Given the description of an element on the screen output the (x, y) to click on. 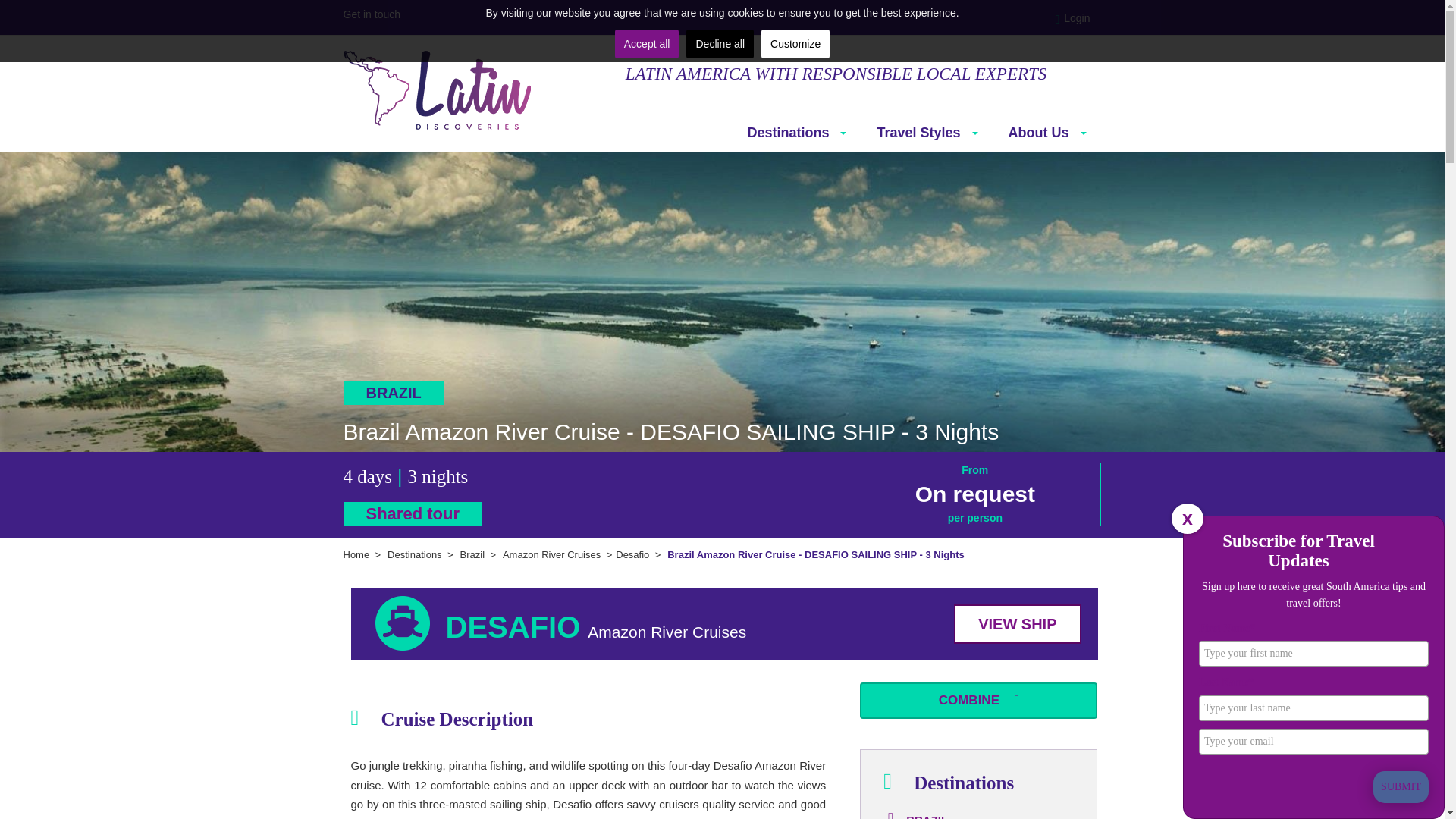
Login (1076, 18)
About Us (1047, 132)
latindiscoveries (436, 89)
Destinations (796, 132)
Get in touch (371, 14)
Travel Styles (926, 132)
